Given the description of an element on the screen output the (x, y) to click on. 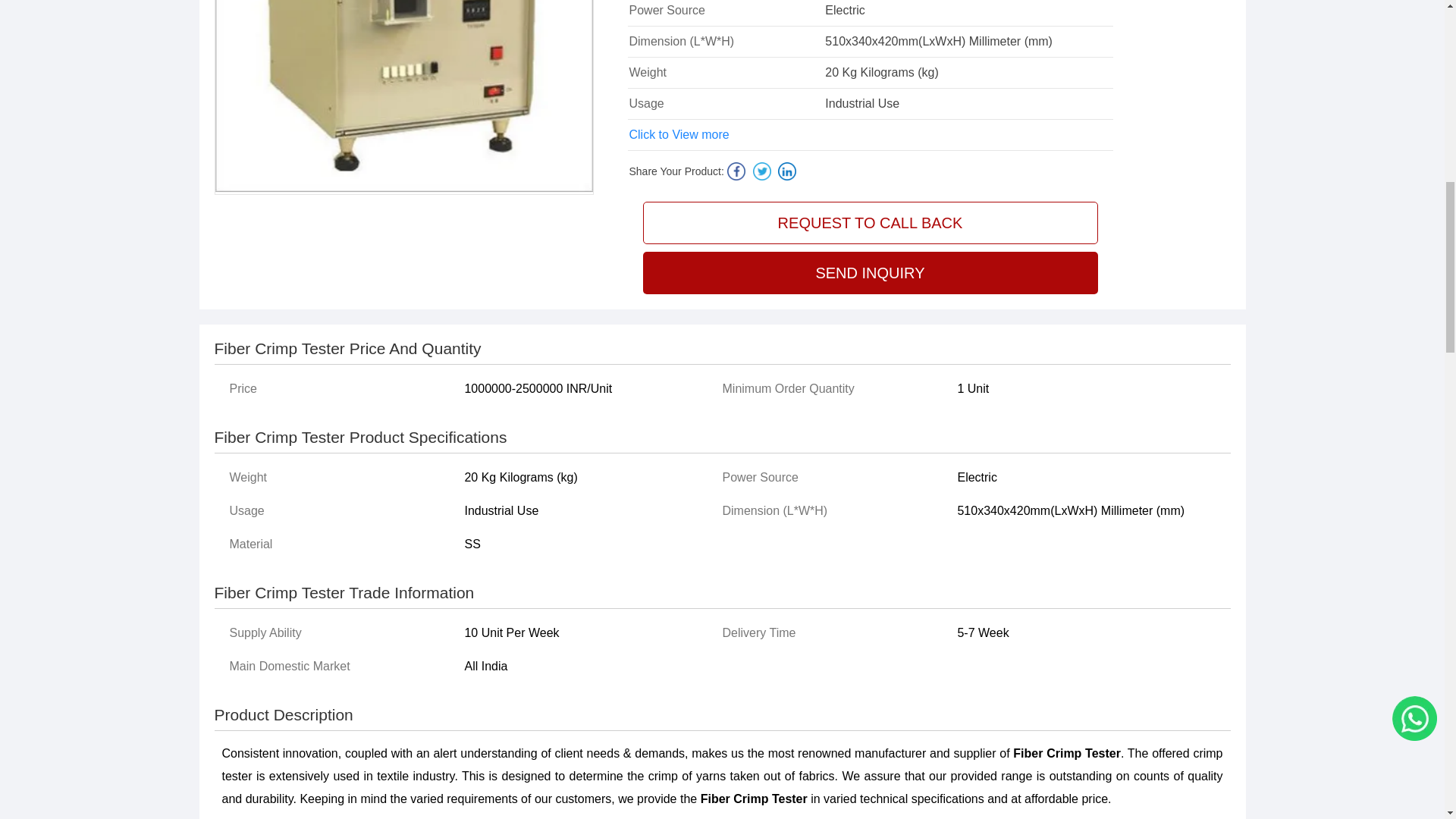
SEND INQUIRY (870, 272)
Click to View more (678, 135)
REQUEST TO CALL BACK (870, 222)
